Given the description of an element on the screen output the (x, y) to click on. 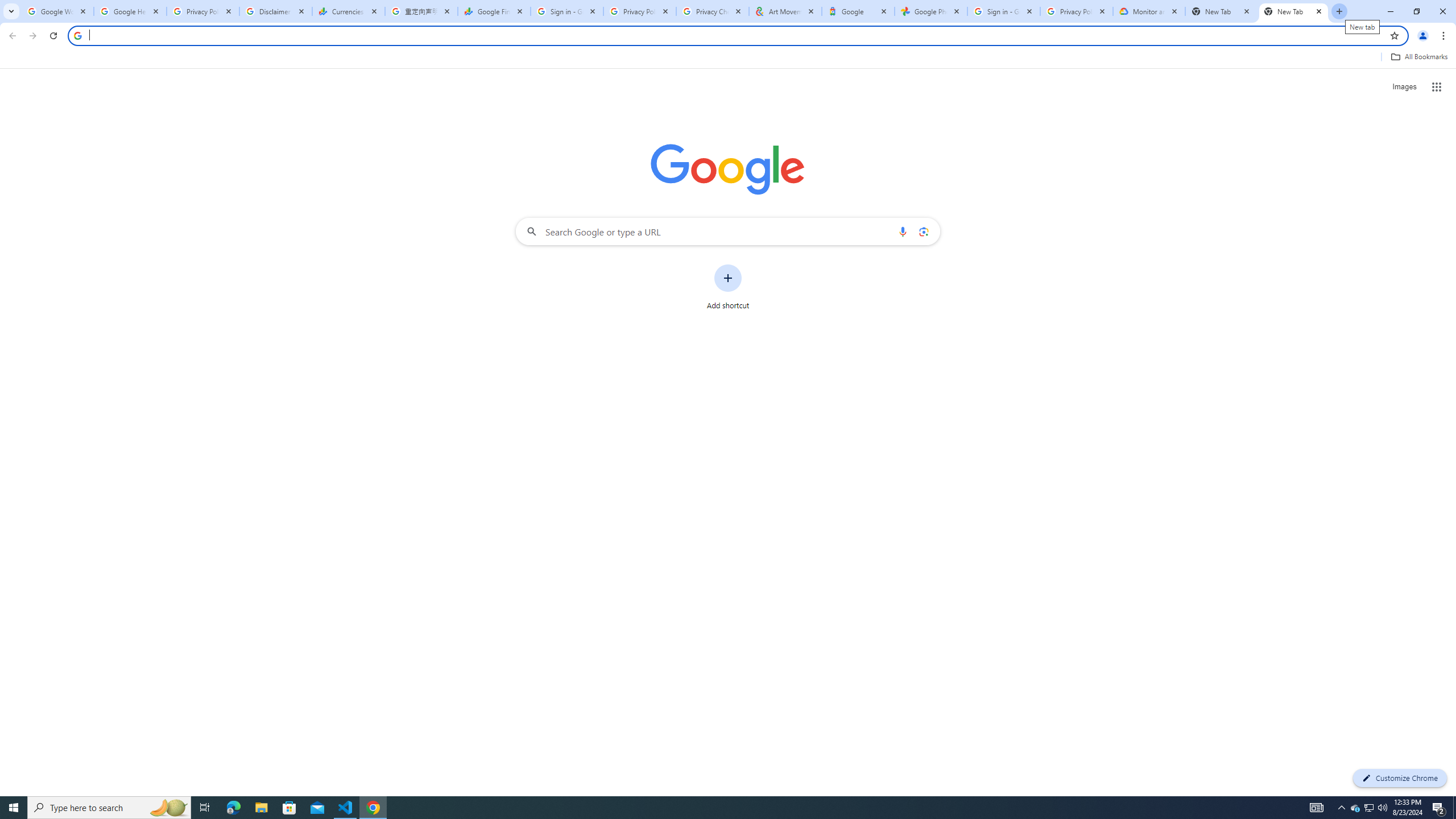
Google Workspace Admin Community (57, 11)
Currencies - Google Finance (348, 11)
Sign in - Google Accounts (566, 11)
Privacy Checkup (712, 11)
